Given the description of an element on the screen output the (x, y) to click on. 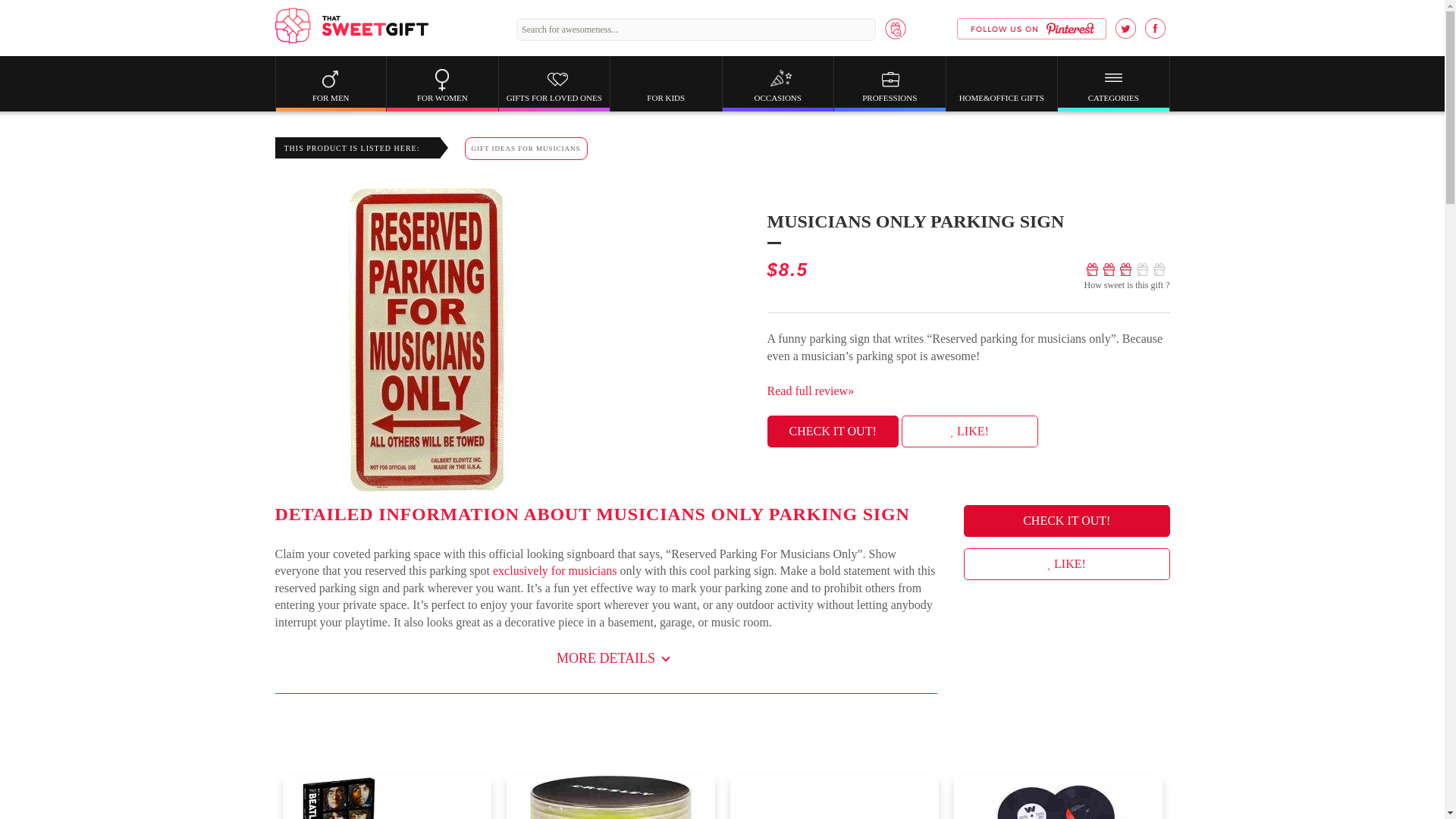
CATEGORIES (1113, 97)
Pinterest (1031, 28)
FOR WOMEN (442, 97)
Facebook (1155, 28)
GIFTS FOR LOVED ONES (554, 97)
GIFT IDEAS FOR MUSICIANS (525, 148)
LIKE! (969, 431)
exclusively for musicians (555, 570)
PROFESSIONS (889, 97)
FOR KIDS (666, 97)
Twitter (1125, 28)
LIKE! (1066, 563)
FOR MEN (331, 97)
OCCASIONS (777, 97)
Thatsweetgift (351, 25)
